Given the description of an element on the screen output the (x, y) to click on. 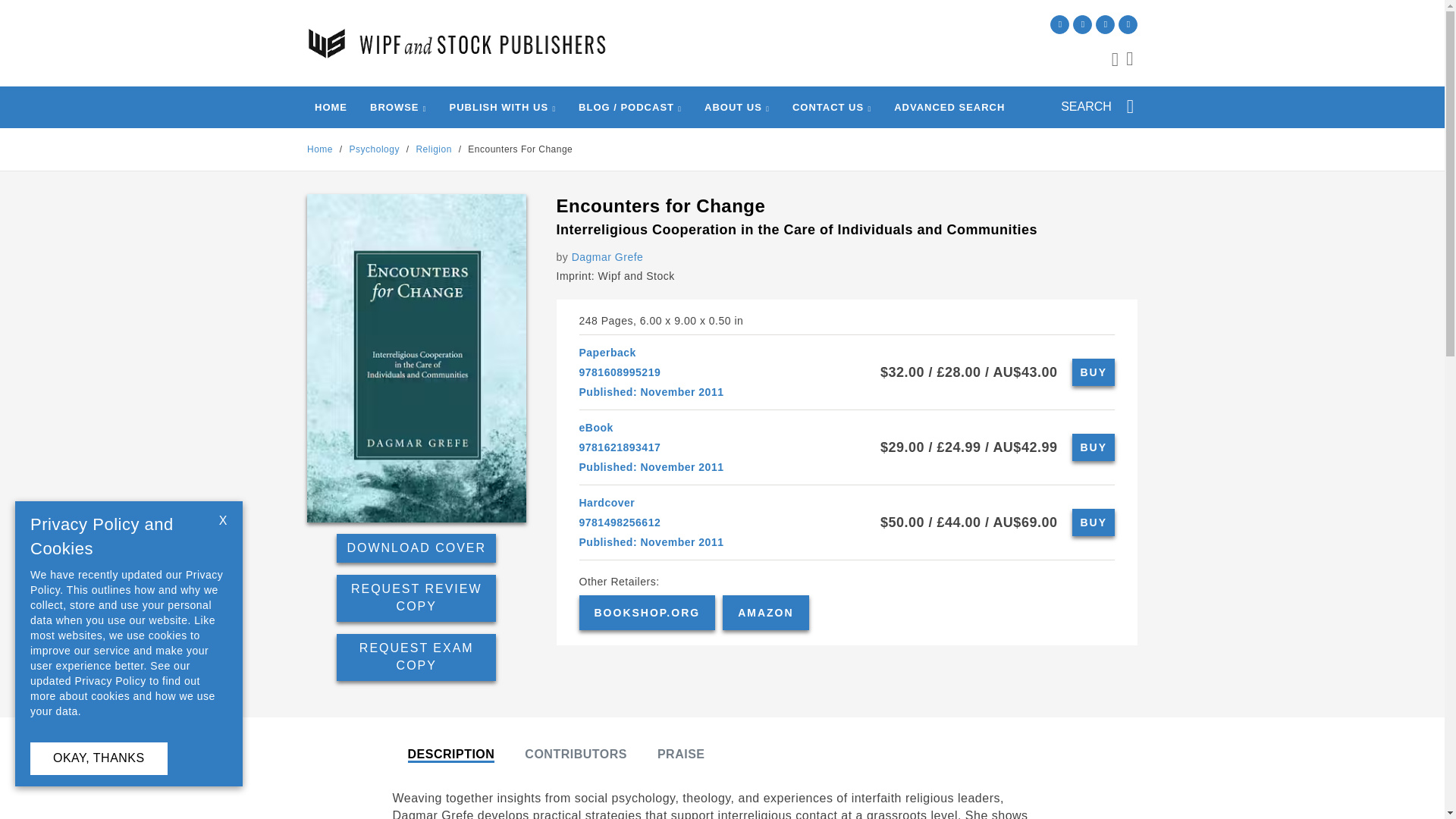
Follow us on Instagram (1082, 24)
Follow us on Facebook (1105, 24)
View results for psychology (373, 149)
PUBLISH WITH US (498, 107)
Download Cover (416, 548)
BROWSE (394, 107)
Request Review Copy (416, 597)
HOME (330, 107)
View results for religion (432, 149)
Follow us on YouTube (1127, 24)
Back to homepage (320, 149)
